Given the description of an element on the screen output the (x, y) to click on. 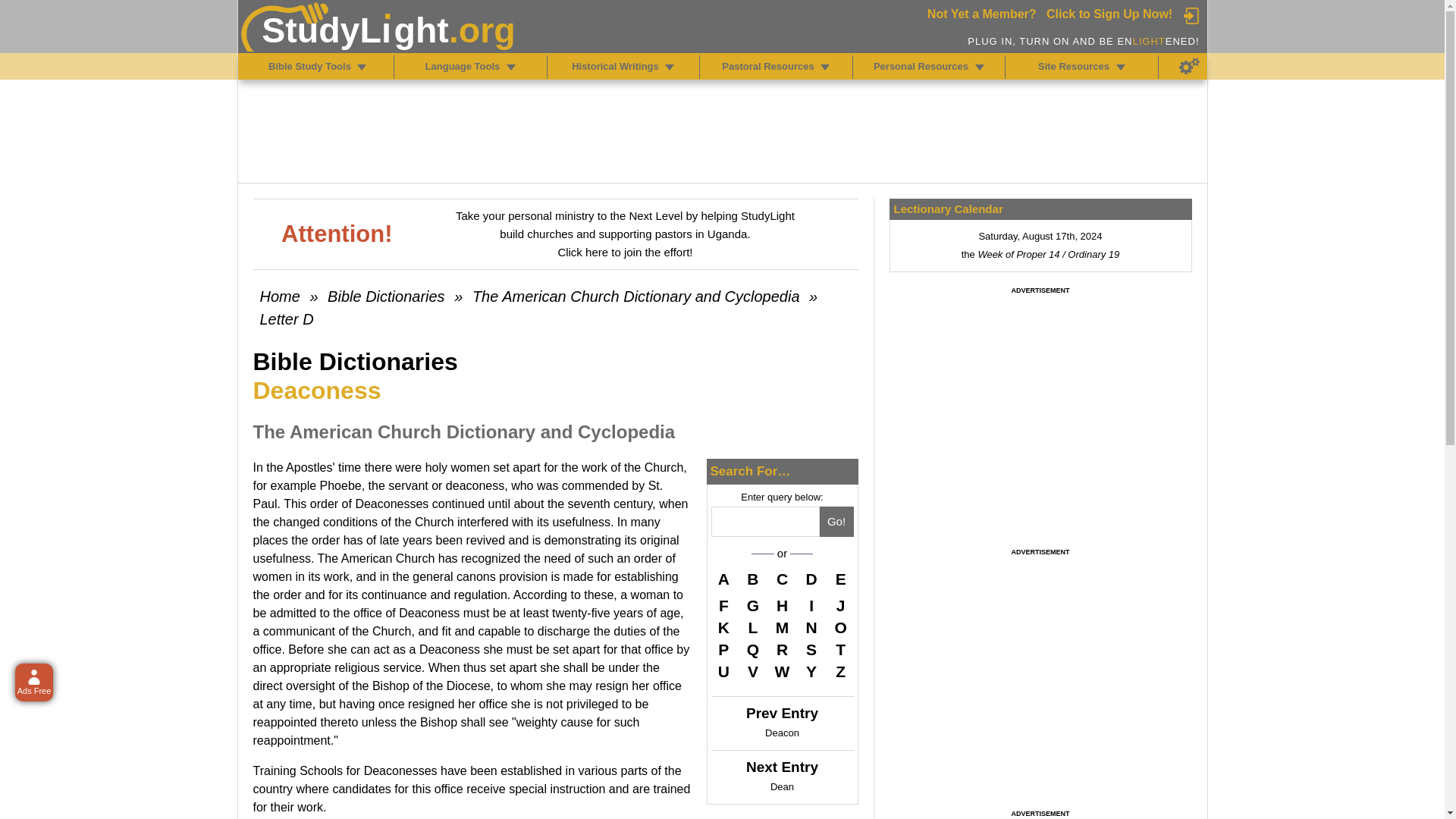
Go! (835, 521)
J (840, 606)
K (723, 628)
Site Resources (1120, 67)
Bible Dictionaries (386, 296)
L (752, 628)
G (752, 606)
Z (840, 671)
Language Tools (510, 67)
F (723, 606)
